Given the description of an element on the screen output the (x, y) to click on. 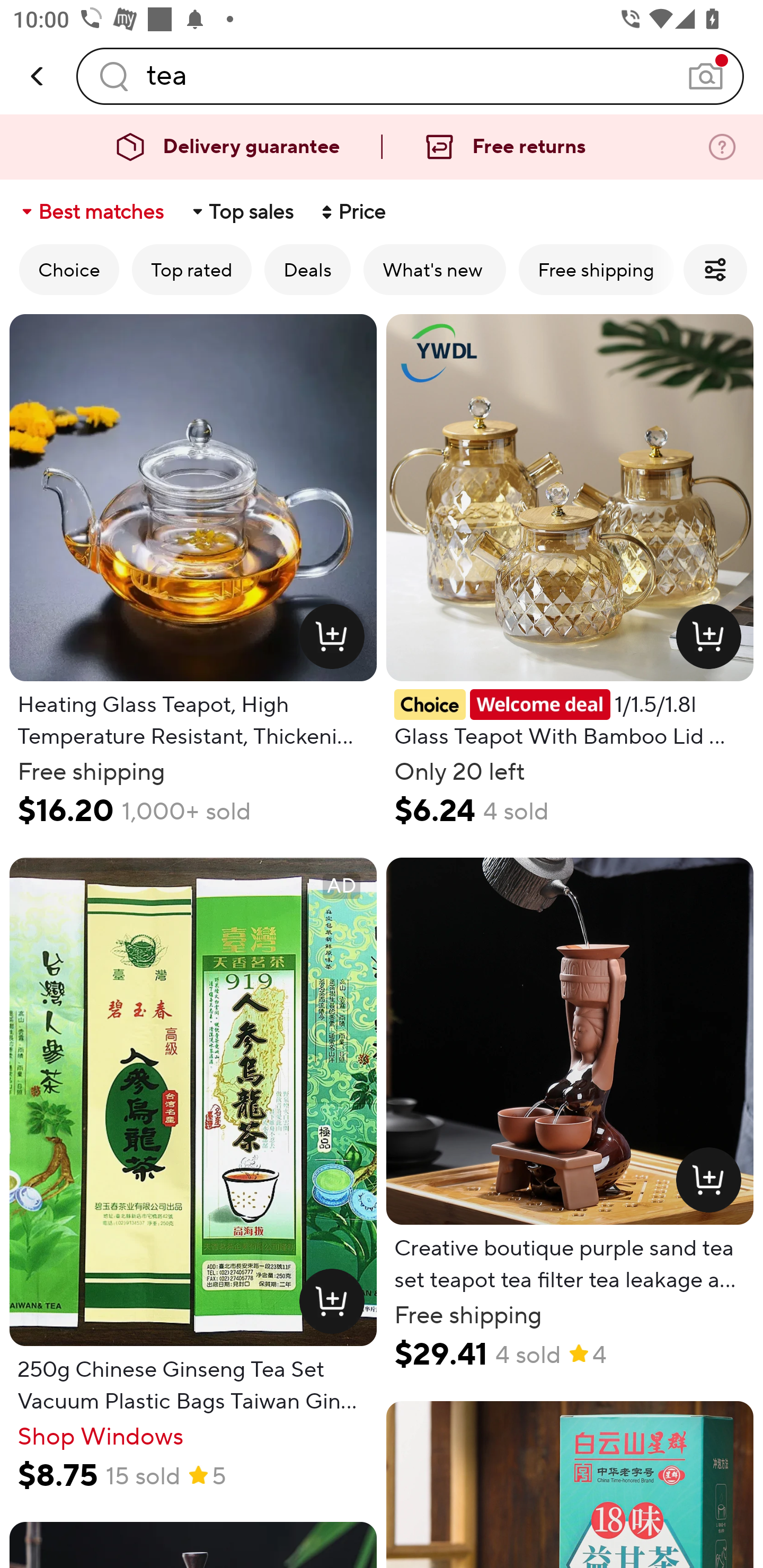
back (38, 75)
tea Search query (409, 76)
tea Search query (409, 76)
Best matches (91, 212)
Top sales (241, 212)
Price (352, 212)
Choice (69, 269)
Top rated (191, 269)
Deals (307, 269)
What's new  (434, 269)
Free shipping (595, 269)
